Given the description of an element on the screen output the (x, y) to click on. 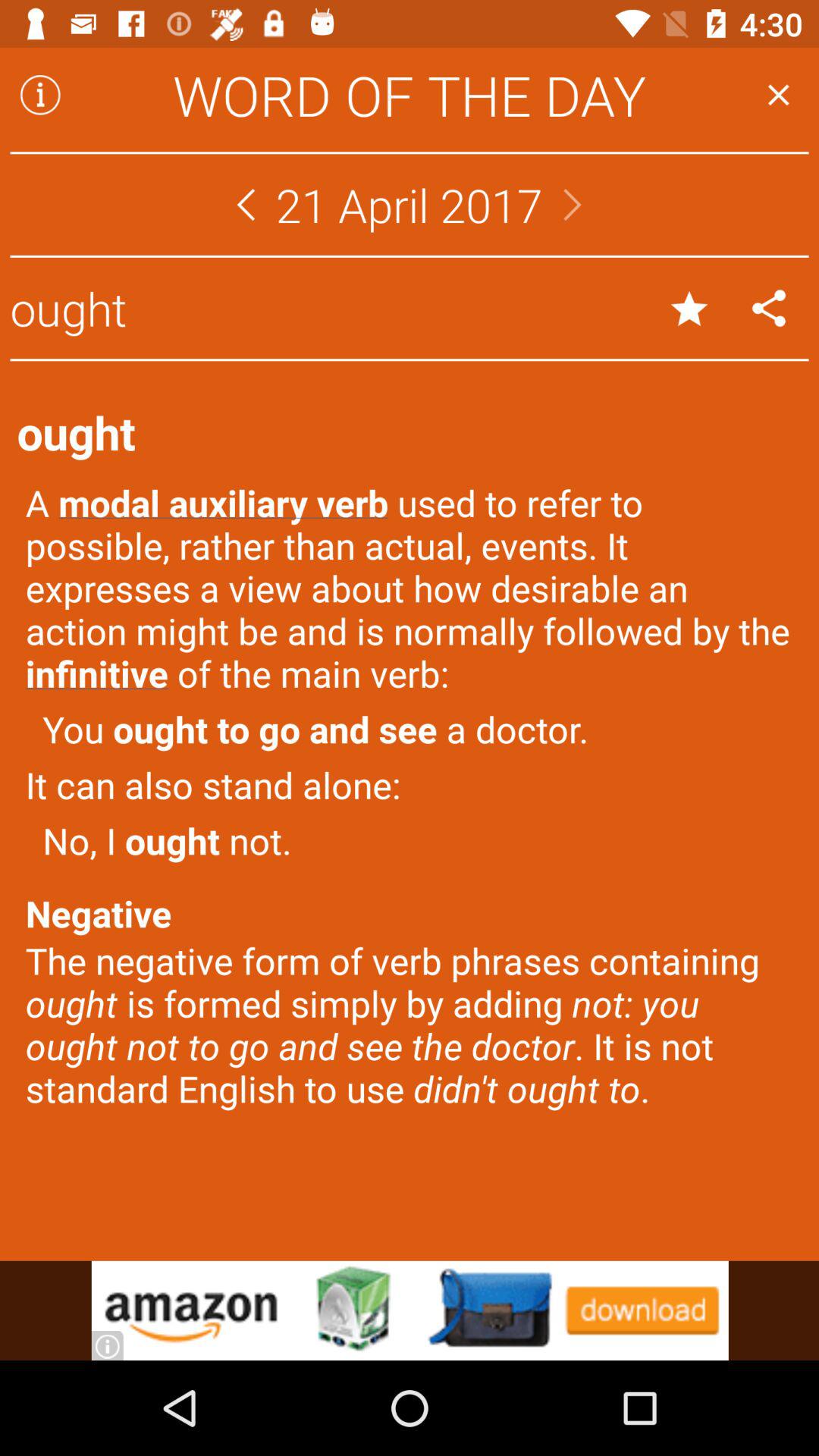
next day (572, 204)
